Given the description of an element on the screen output the (x, y) to click on. 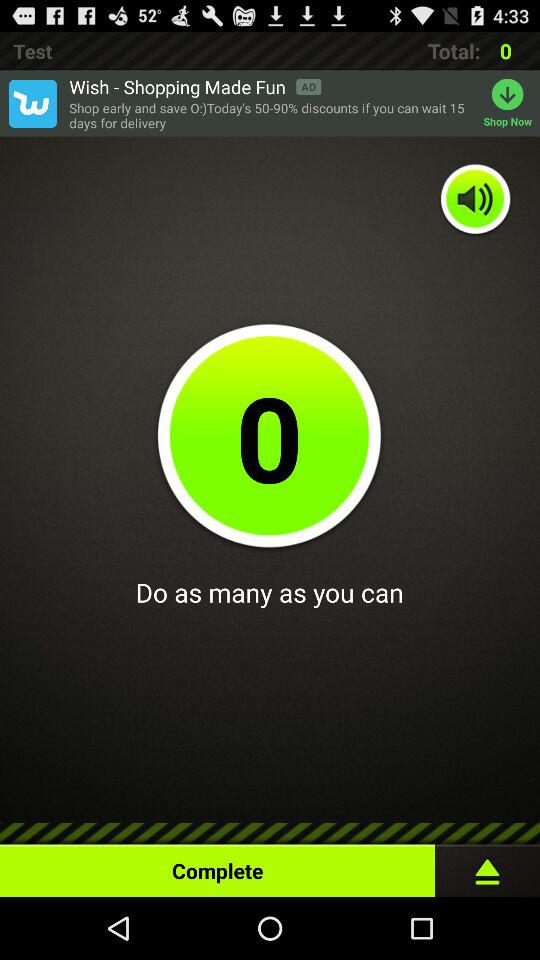
switch sound off (475, 200)
